Given the description of an element on the screen output the (x, y) to click on. 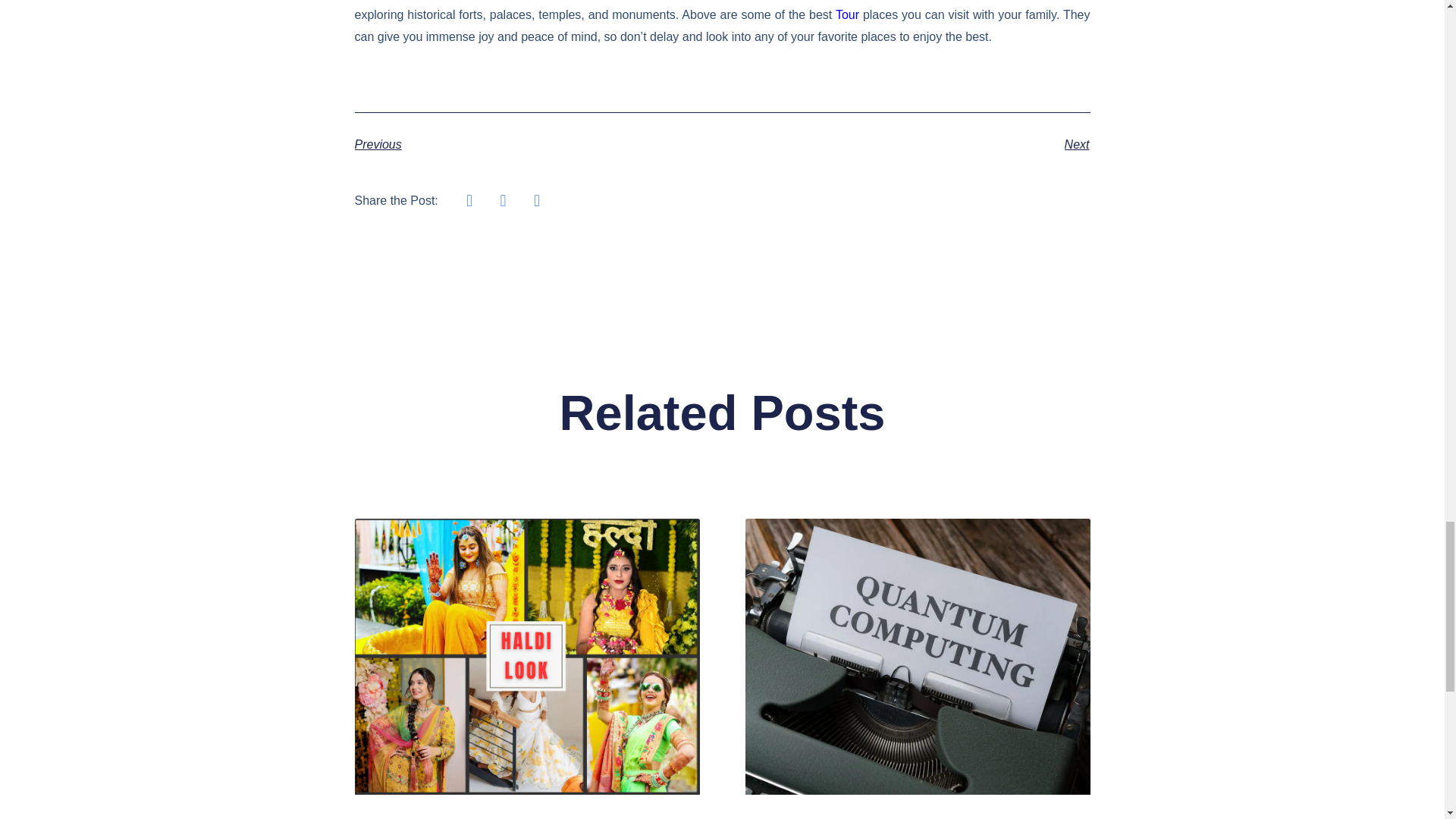
Previous (538, 144)
Next (905, 144)
Tour (847, 14)
